Given the description of an element on the screen output the (x, y) to click on. 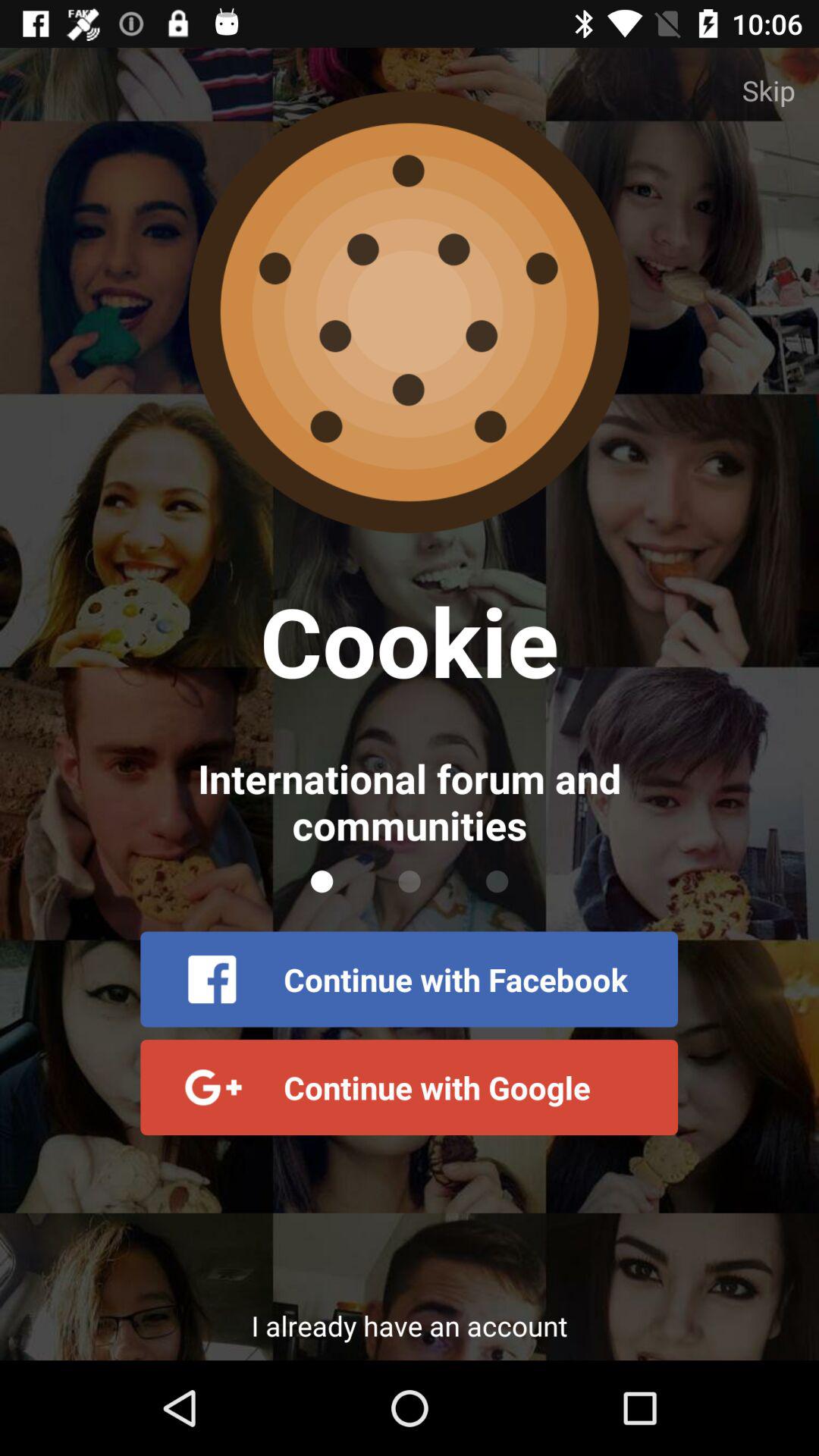
choose to continue with google (409, 1087)
click on continue with facebook (409, 979)
